Given the description of an element on the screen output the (x, y) to click on. 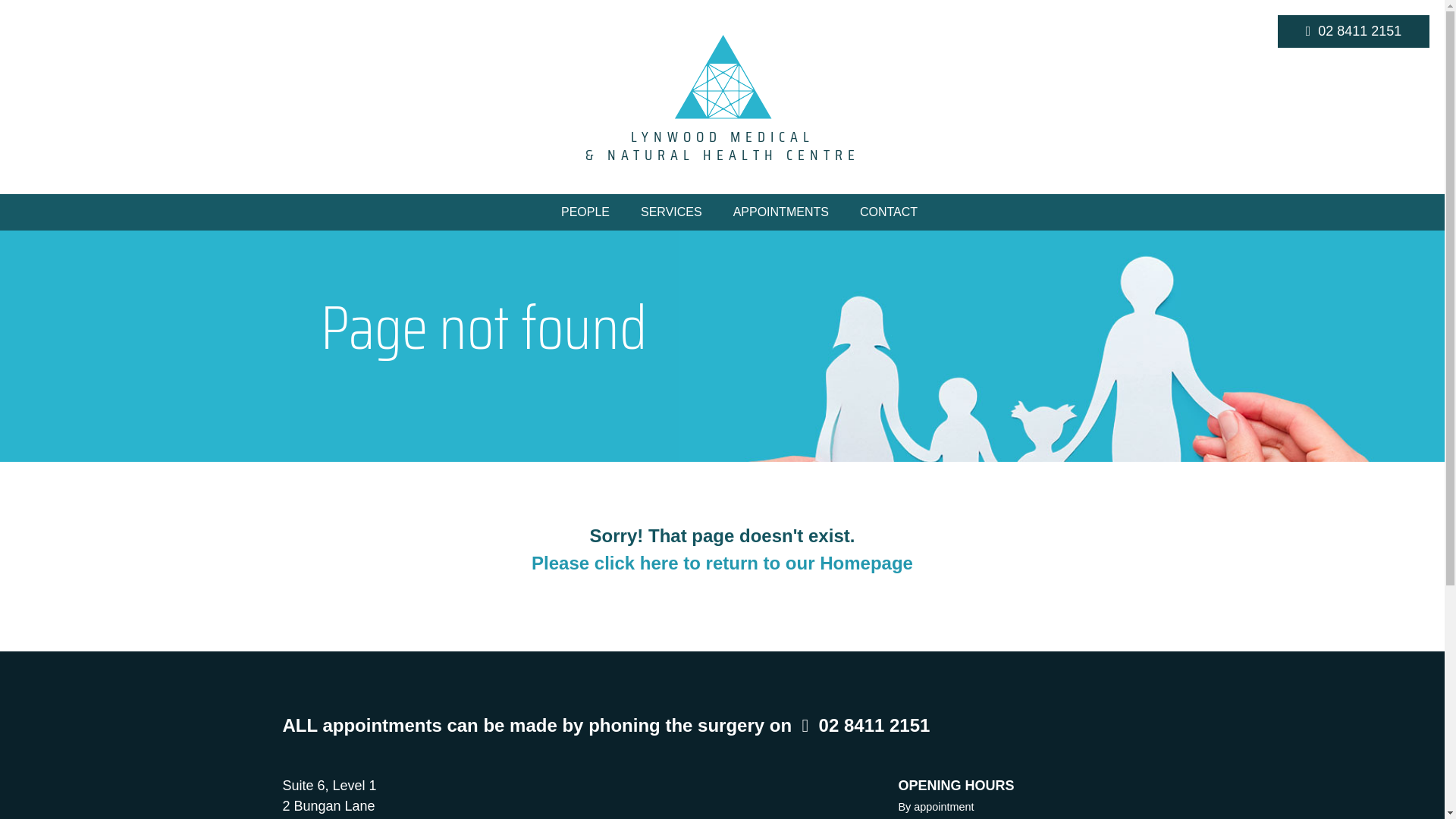
Lynwood Medical Element type: hover (721, 75)
SERVICES Element type: text (671, 212)
PEOPLE Element type: text (585, 212)
CONTACT Element type: text (888, 212)
  02 8411 2151 Element type: text (1353, 31)
APPOINTMENTS Element type: text (781, 212)
  02 8411 2151 Element type: text (865, 725)
Please click here to return to our Homepage Element type: text (722, 562)
